Given the description of an element on the screen output the (x, y) to click on. 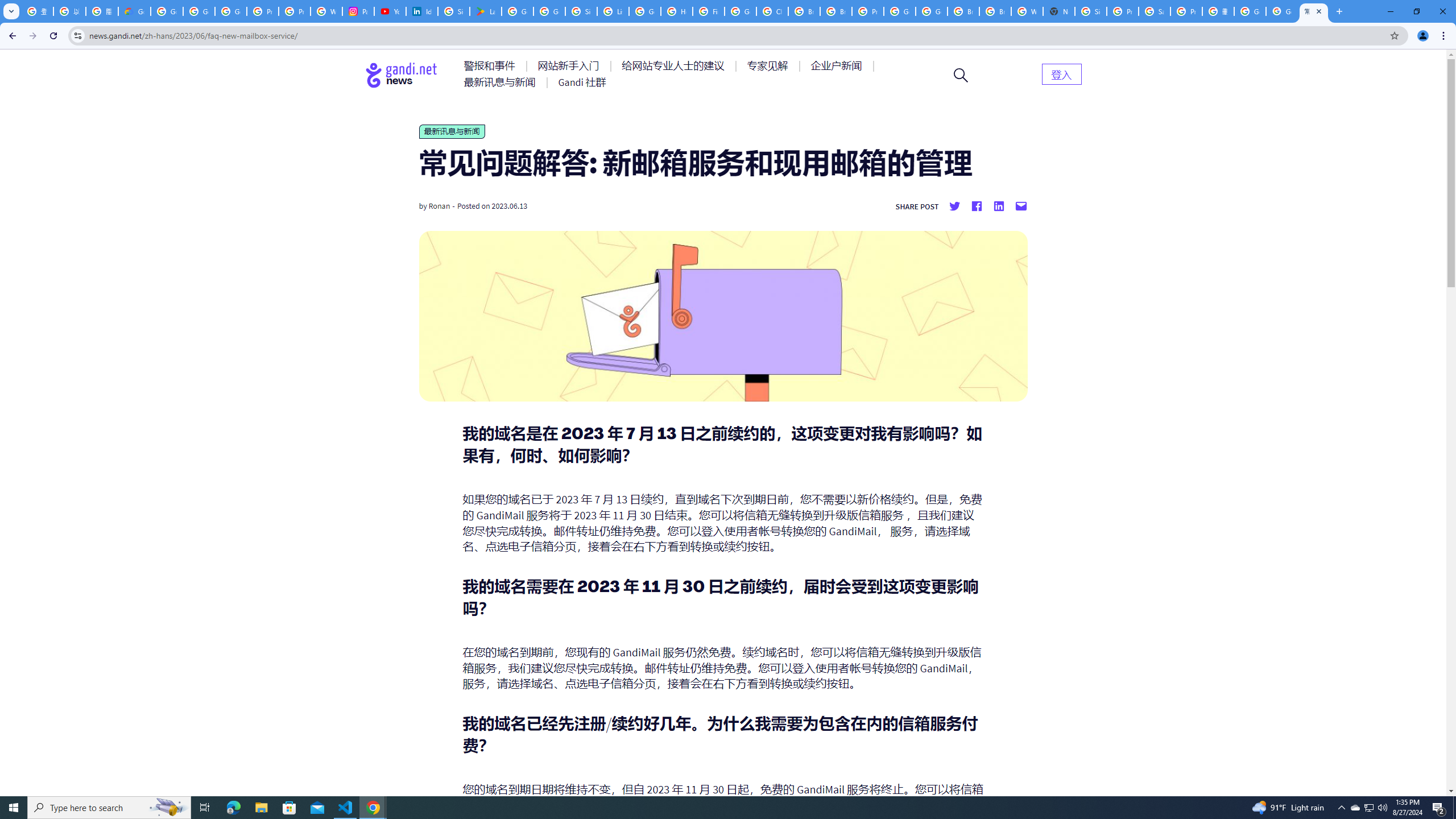
Privacy Help Center - Policies Help (262, 11)
AutomationID: menu-item-77765 (838, 65)
Sign in - Google Accounts (581, 11)
Privacy Help Center - Policies Help (294, 11)
